Given the description of an element on the screen output the (x, y) to click on. 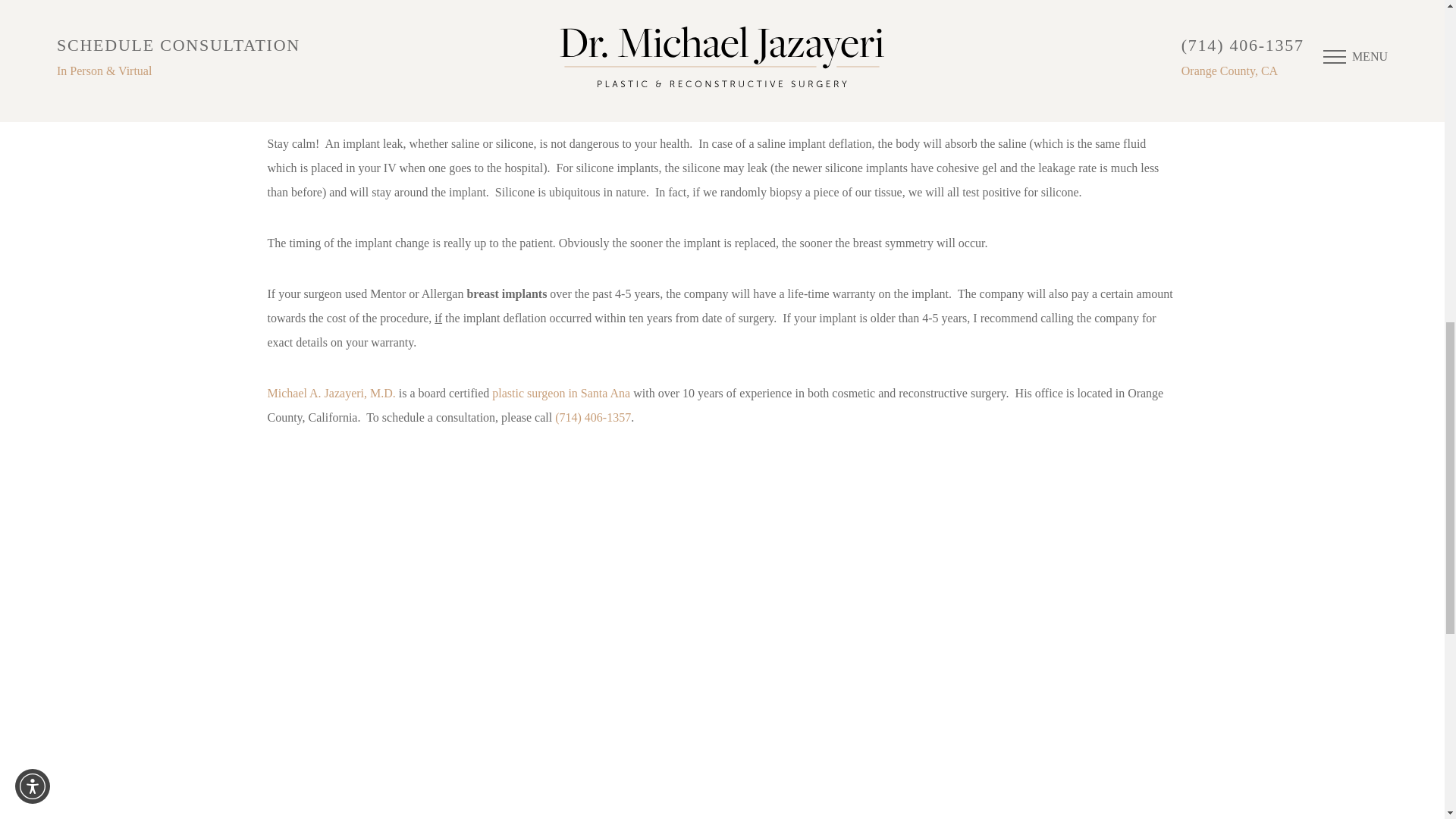
breast implants orange county (332, 27)
Best Plastic Surgeon in Santa Ana (561, 392)
